Given the description of an element on the screen output the (x, y) to click on. 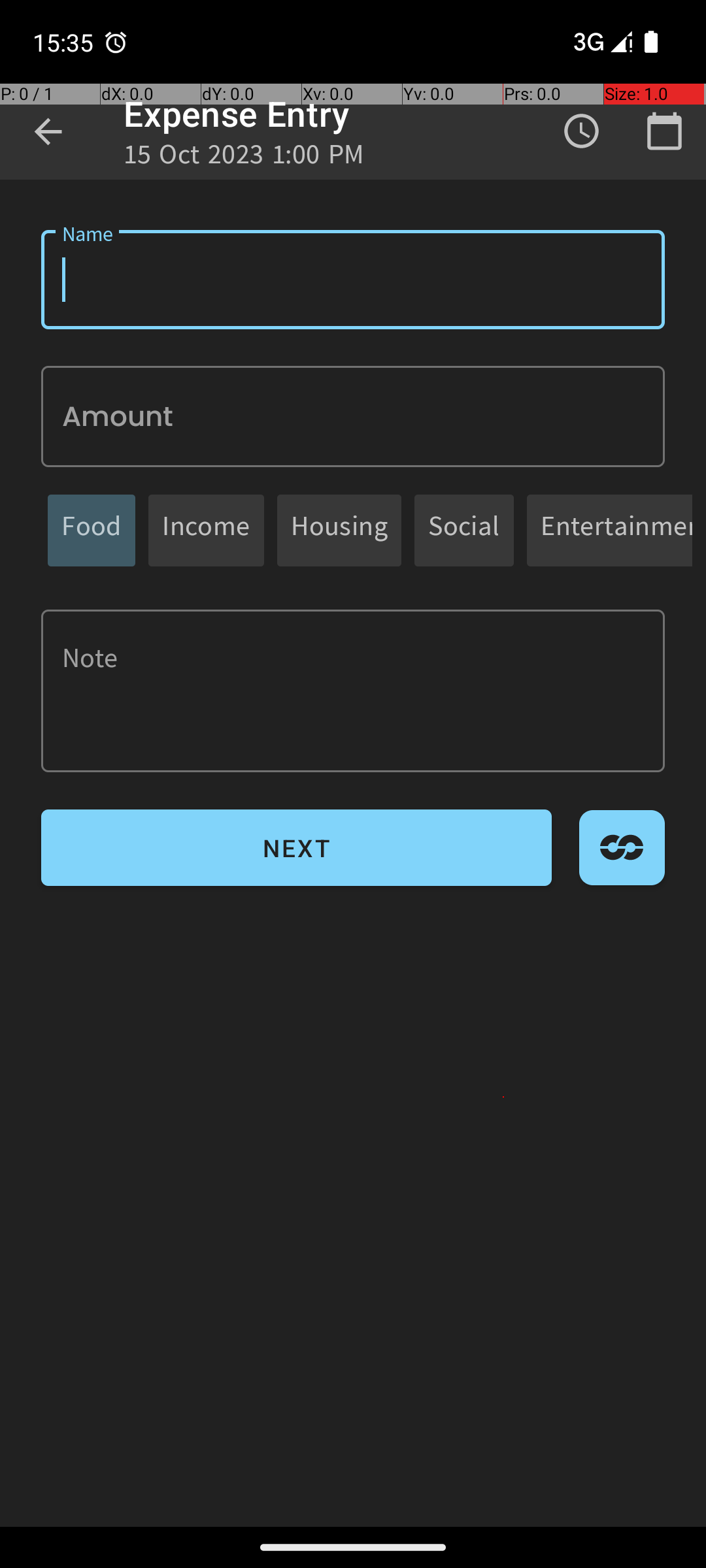
15 Oct 2023 1:00 PM Element type: android.widget.TextView (243, 157)
